Given the description of an element on the screen output the (x, y) to click on. 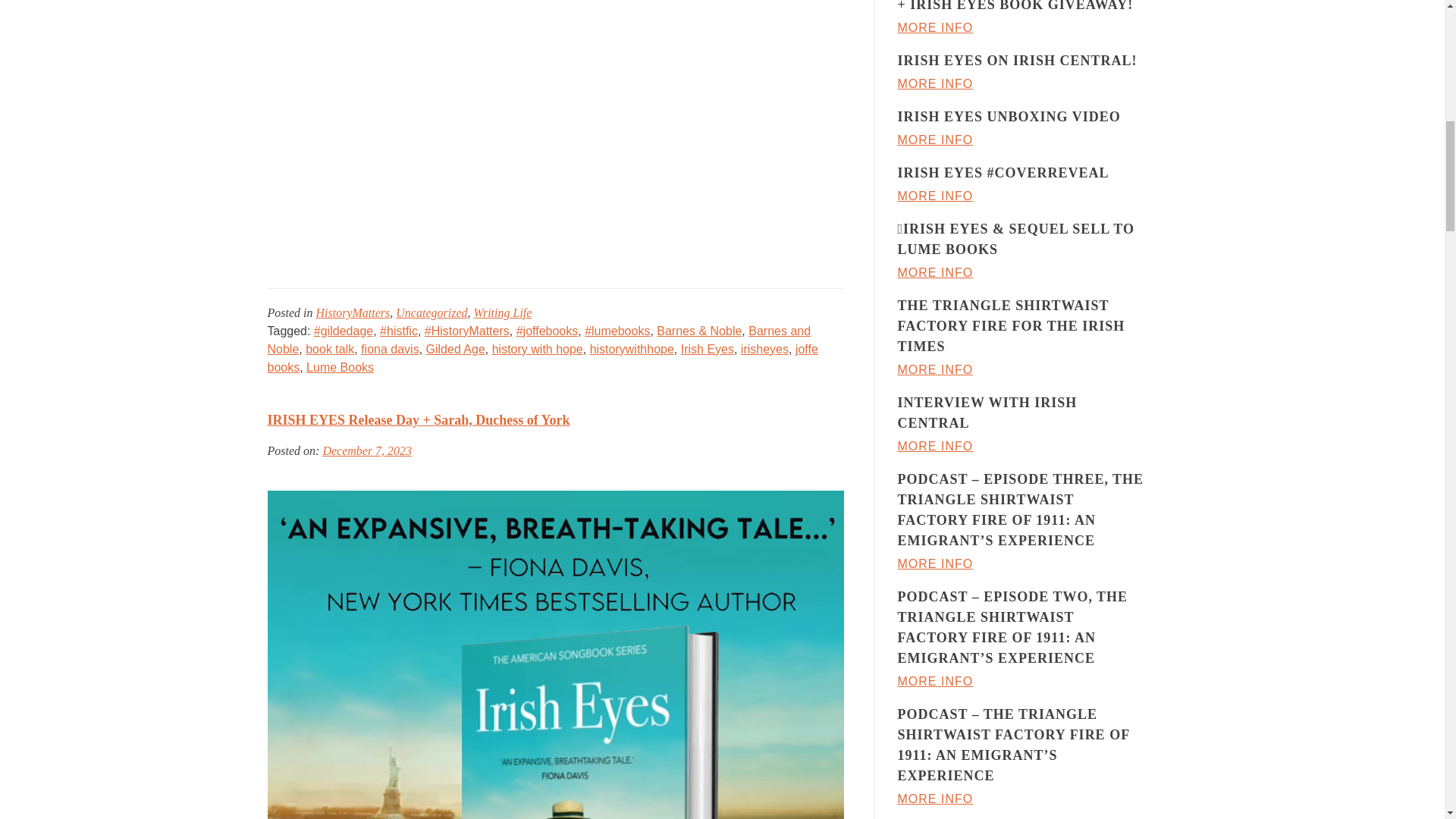
Hope C. Tarr in convo on Irish Eyes with Fiona Davis (509, 120)
Uncategorized (431, 312)
HistoryMatters (352, 312)
